Given the description of an element on the screen output the (x, y) to click on. 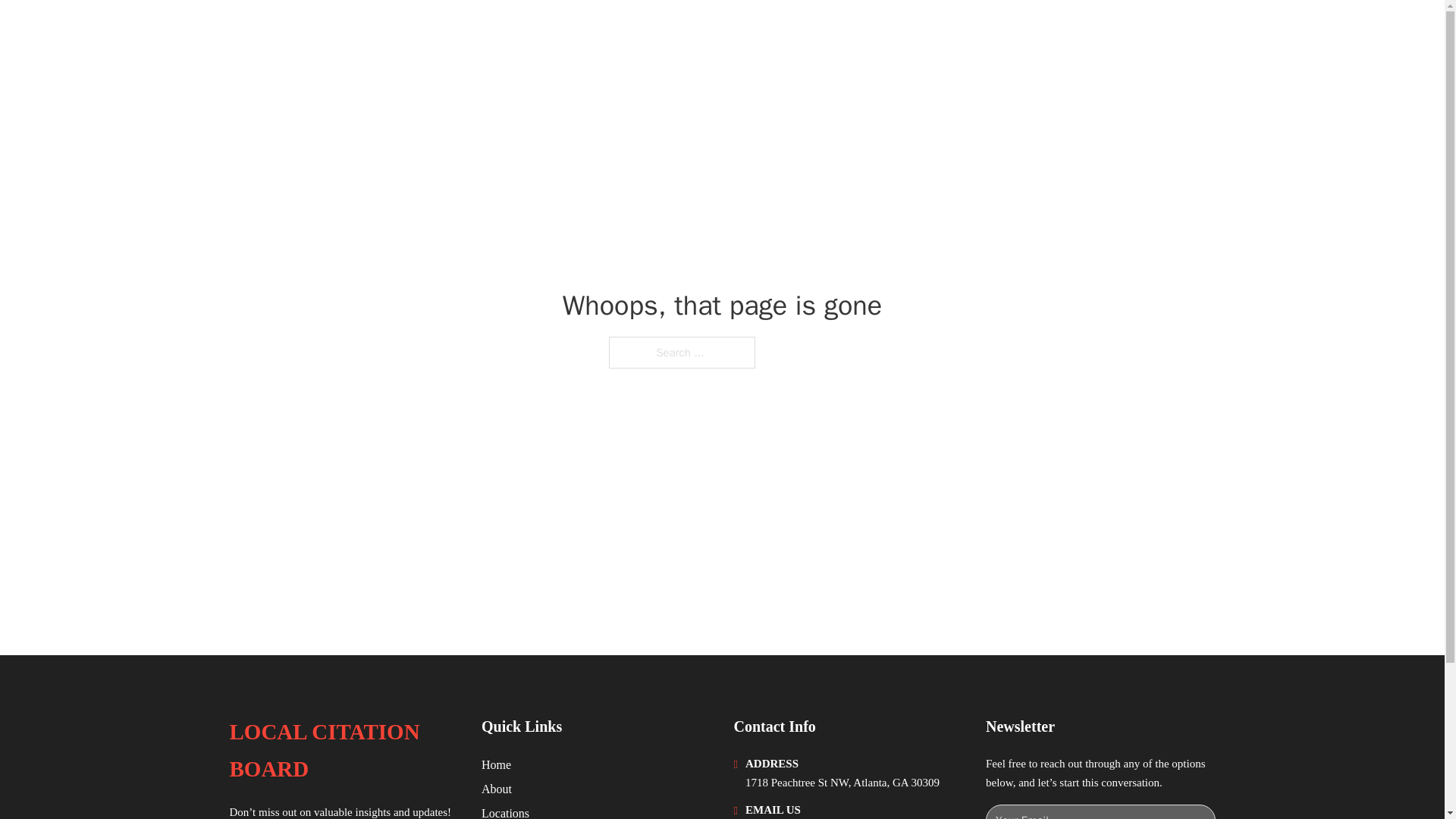
LOCATIONS (1098, 31)
Locations (505, 811)
About (496, 788)
LOCAL CITATION BOARD (343, 750)
Home (496, 764)
LOCAL CITATION BOARD (380, 31)
HOME (1025, 31)
